Given the description of an element on the screen output the (x, y) to click on. 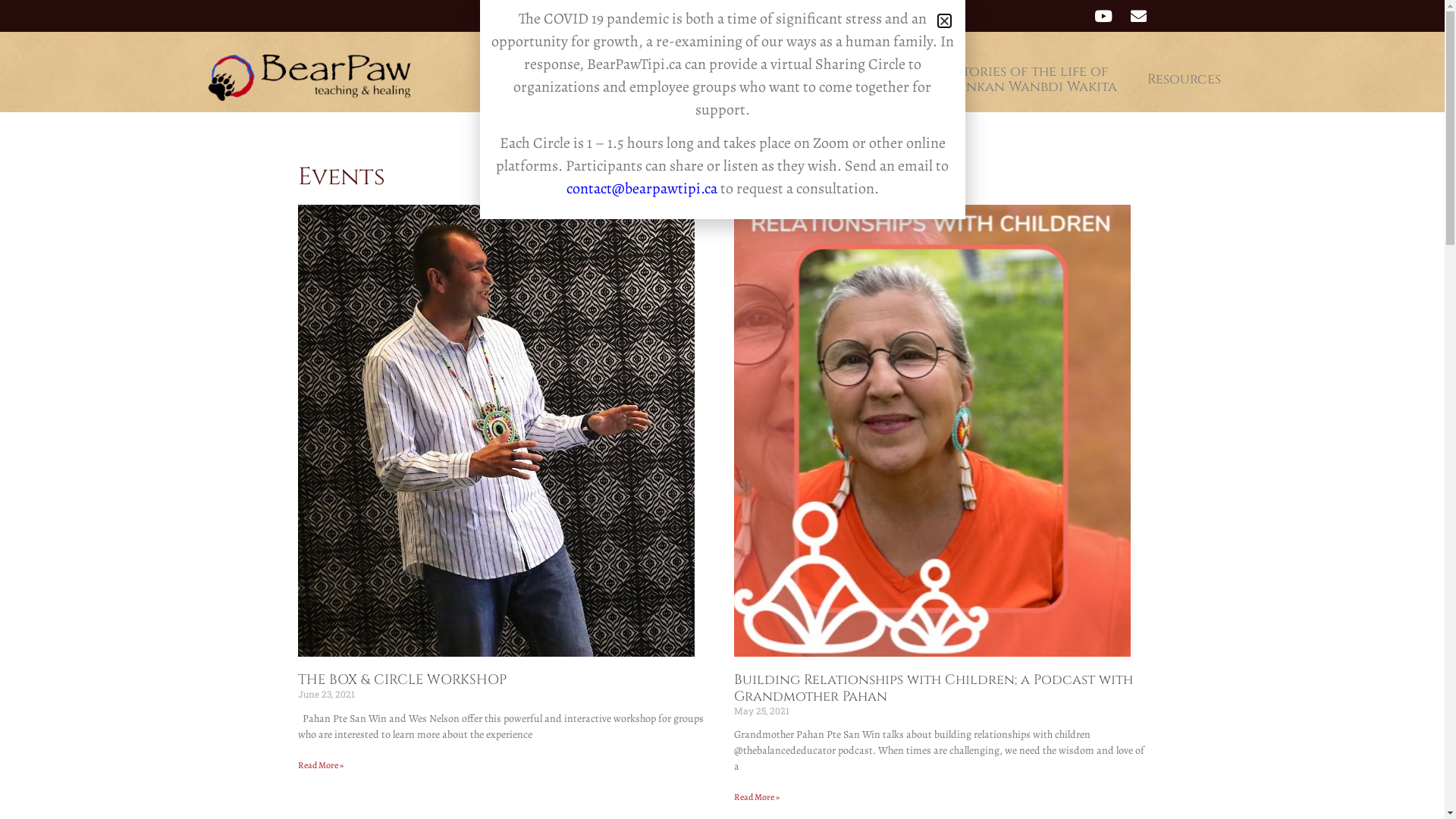
What we do Element type: text (766, 79)
THE BOX & CIRCLE WORKSHOP Element type: text (401, 679)
Stories of the life of
Unkan Wanbdi Wakita Element type: text (1036, 79)
Who are we Element type: text (649, 79)
Contact us Element type: text (882, 79)
Resources Element type: text (1184, 79)
contact@bearpawtipi.ca Element type: text (640, 188)
